Given the description of an element on the screen output the (x, y) to click on. 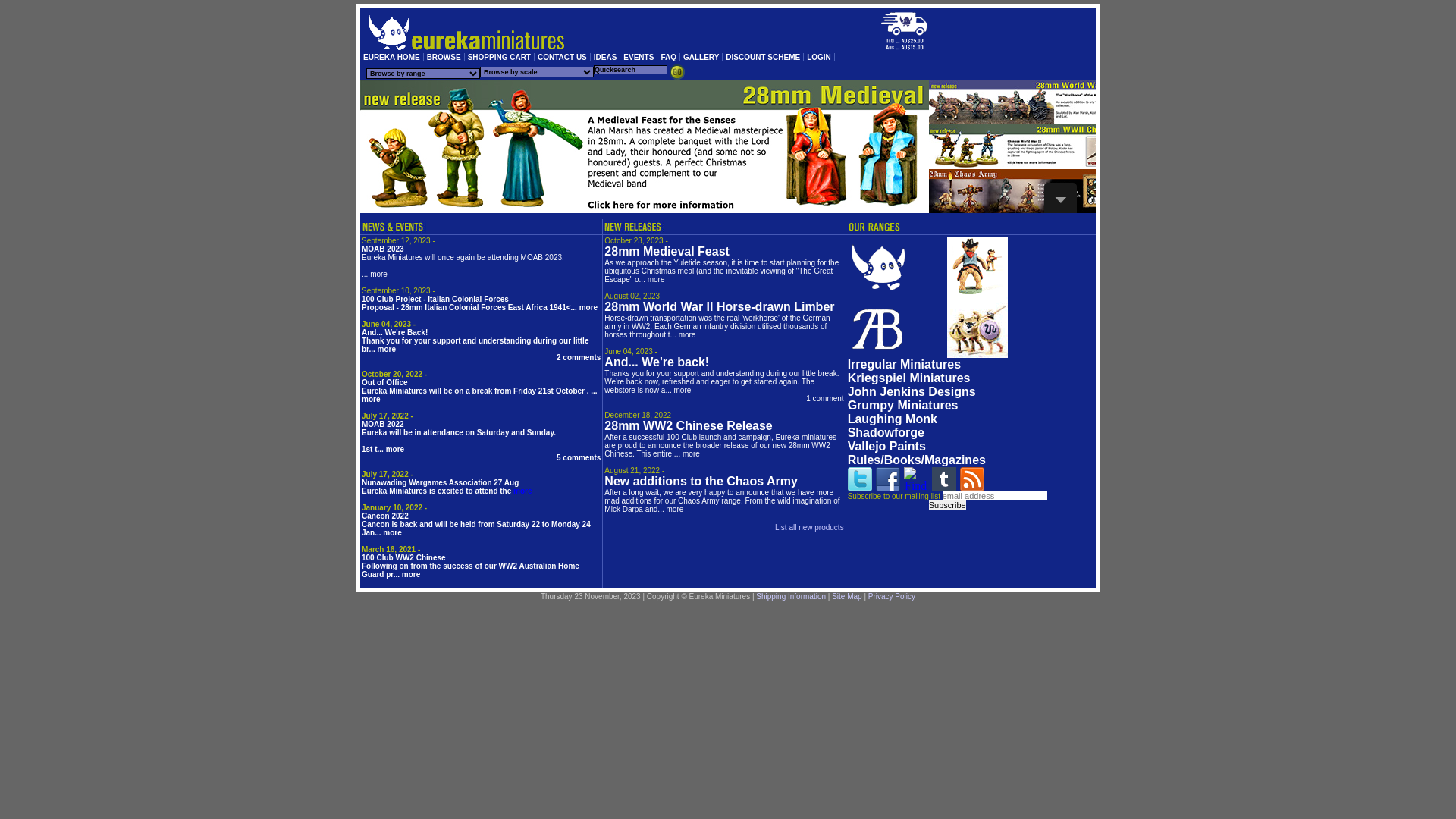
GALLERY Element type: text (701, 57)
100 Club WW2 Chinese Element type: text (403, 557)
more Element type: text (394, 449)
MOAB 2023 Element type: text (382, 248)
28mm Medieval Feast Element type: text (666, 250)
Subscribe Element type: text (947, 504)
IDEAS Element type: text (605, 57)
more Element type: text (410, 574)
Vallejo Paints Element type: text (886, 445)
MOAB 2022 Element type: text (382, 424)
Site Map Element type: text (846, 596)
more Element type: text (391, 532)
DISCOUNT SCHEME Element type: text (762, 57)
 Quicksearch  Element type: hover (676, 71)
100 Club Project - Italian Colonial Forces Element type: text (434, 298)
28mm World War II Horse-drawn Limber Element type: text (719, 306)
LOGIN Element type: text (818, 57)
CONTACT US Element type: text (562, 57)
Grumpy Miniatures Element type: text (902, 404)
SHOPPING CART Element type: text (499, 57)
more Element type: text (674, 509)
more Element type: text (386, 349)
BROWSE Element type: text (443, 57)
more Element type: text (370, 399)
more Element type: text (690, 453)
Nunawading Wargames Association 27 Aug Element type: text (439, 482)
And... We're back! Element type: text (656, 361)
Shipping Information Element type: text (790, 596)
Out of Office Element type: text (384, 382)
Rules/Books/Magazines Element type: text (916, 459)
more Element type: text (522, 490)
more Element type: text (687, 334)
more Element type: text (656, 279)
Cancon 2022 Element type: text (384, 515)
And... We're Back! Element type: text (394, 332)
EVENTS Element type: text (638, 57)
Irregular Miniatures Element type: text (903, 363)
more Element type: text (681, 389)
more Element type: text (588, 307)
Shadowforge Element type: text (885, 432)
John Jenkins Designs Element type: text (911, 391)
FAQ Element type: text (668, 57)
Privacy Policy Element type: text (891, 596)
more Element type: text (378, 273)
Kriegspiel Miniatures Element type: text (908, 377)
New additions to the Chaos Army Element type: text (700, 480)
28mm WW2 Chinese Release Element type: text (687, 425)
List all new products Element type: text (809, 527)
EUREKA HOME Element type: text (391, 57)
Laughing Monk Element type: text (892, 418)
